Given the description of an element on the screen output the (x, y) to click on. 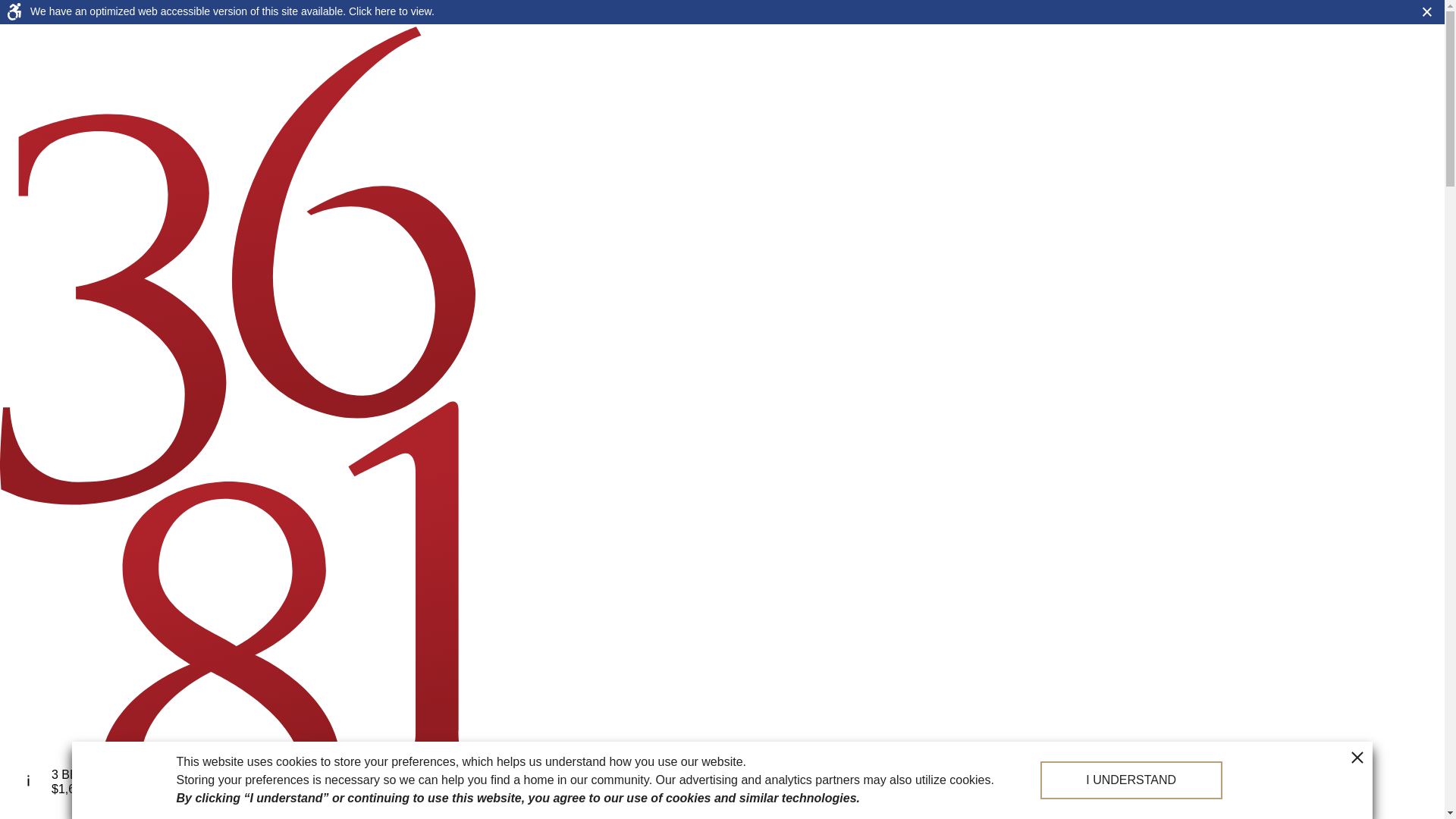
3 BEDROOM SPECIAL PRICING!!! $1,650-$1,700!! Element type: text (151, 782)
I UNDERSTAND Element type: text (1131, 780)
x Element type: text (294, 754)
